Given the description of an element on the screen output the (x, y) to click on. 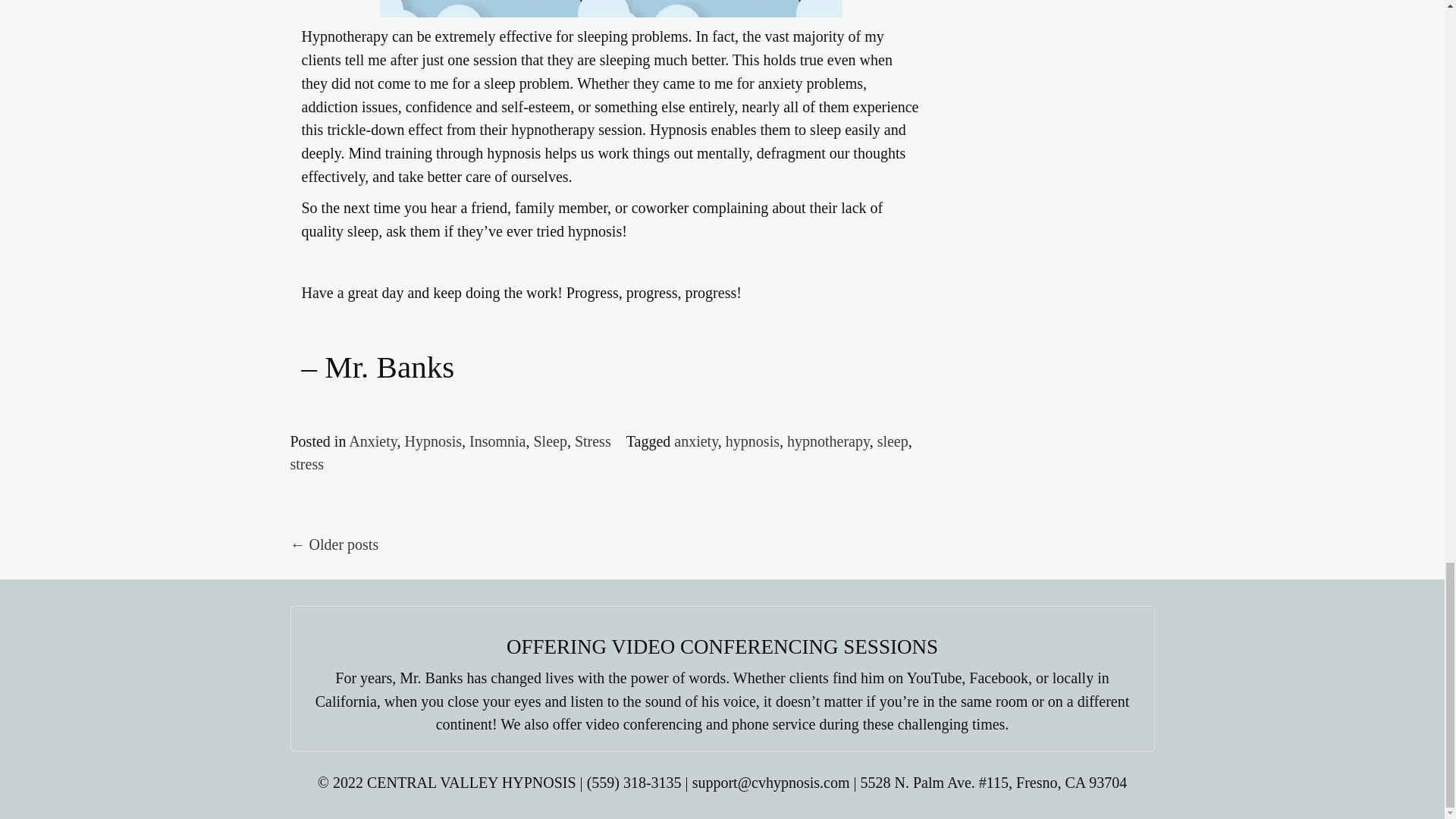
Sleep (549, 441)
Anxiety (372, 441)
Hypnosis (432, 441)
Stress (593, 441)
Insomnia (496, 441)
anxiety (695, 441)
